Given the description of an element on the screen output the (x, y) to click on. 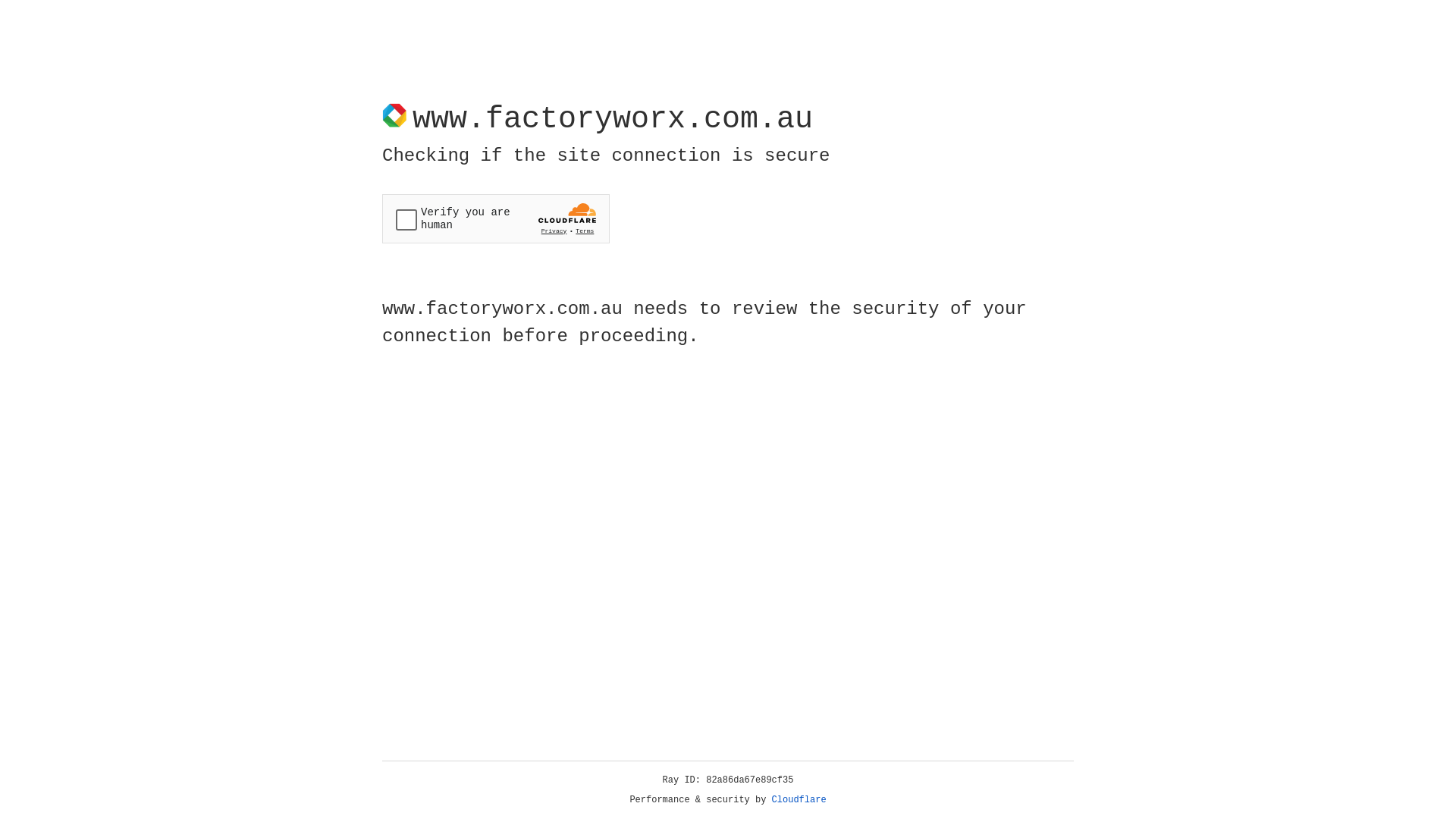
Cloudflare Element type: text (798, 799)
Widget containing a Cloudflare security challenge Element type: hover (495, 218)
